Given the description of an element on the screen output the (x, y) to click on. 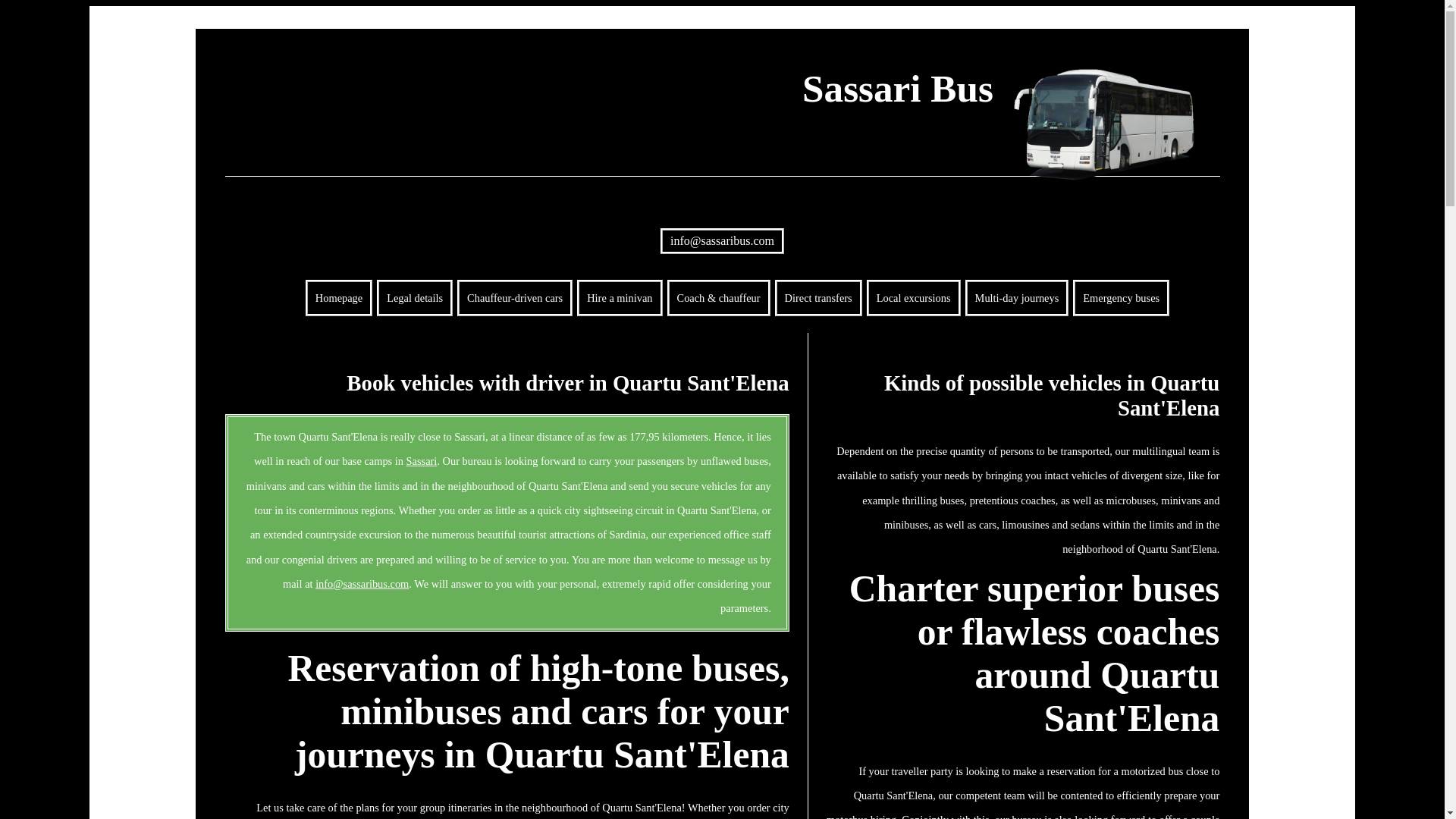
Homepage (338, 298)
Direct transfers (817, 298)
Sightseeing in Sassari (913, 298)
Our company (414, 298)
Chauffeur-driven cars (514, 298)
book buses Sassari: hire buses (422, 460)
Emergency buses (1121, 298)
Minibus charter in Sassari (619, 298)
Hire a minivan (619, 298)
Sassari (422, 460)
Coach with driver in Sassari (718, 298)
Legal details (414, 298)
Rent a car in Sassari (514, 298)
Local excursions (913, 298)
Street transfers in Sassari (817, 298)
